Given the description of an element on the screen output the (x, y) to click on. 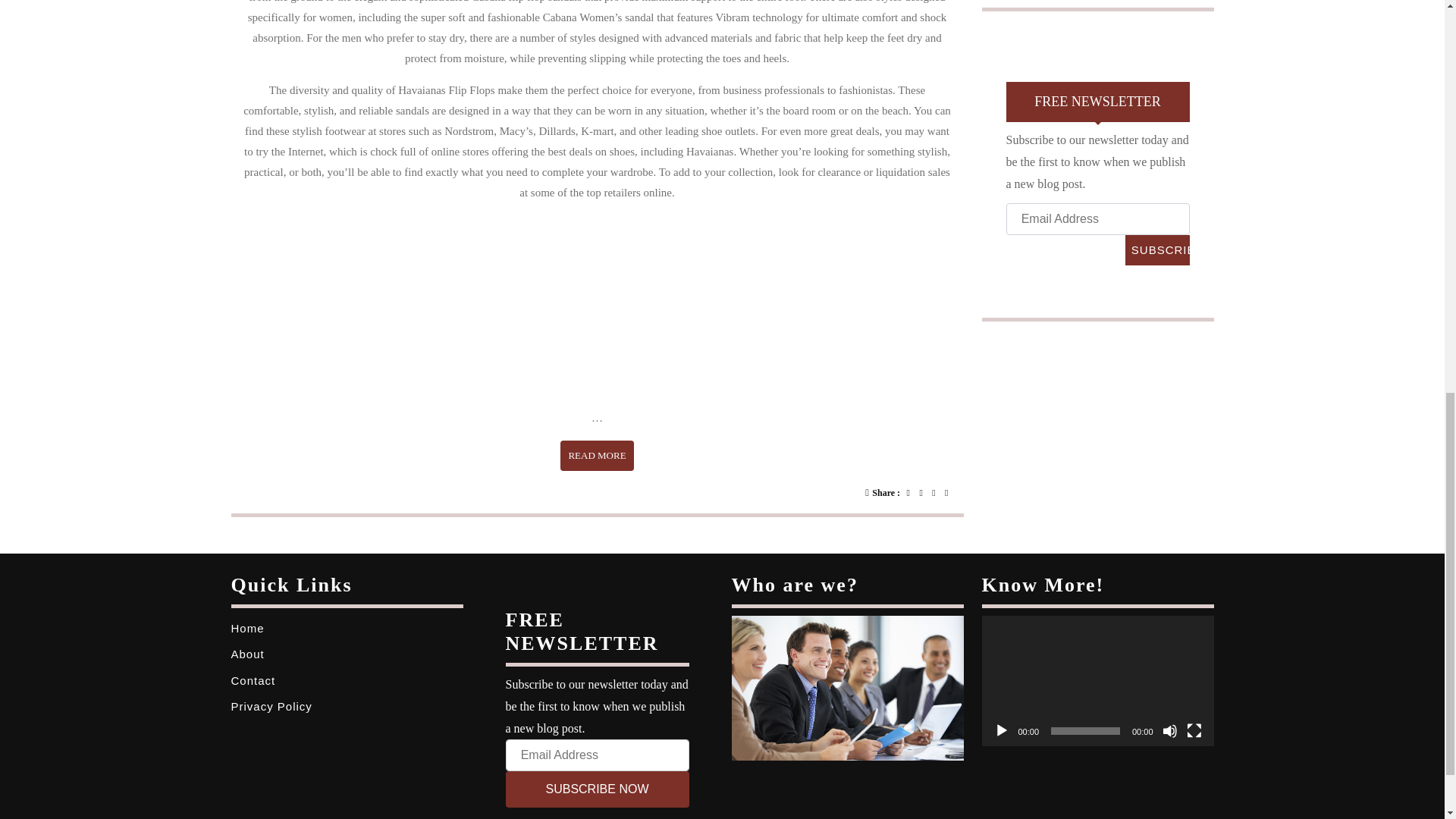
SUBSCRIBE NOW (1157, 250)
Play (1000, 730)
SUBSCRIBE NOW (1157, 250)
Home (246, 627)
Mute (1168, 730)
Contact (252, 680)
SUBSCRIBE NOW (596, 455)
Fullscreen (596, 789)
About (1193, 730)
